Given the description of an element on the screen output the (x, y) to click on. 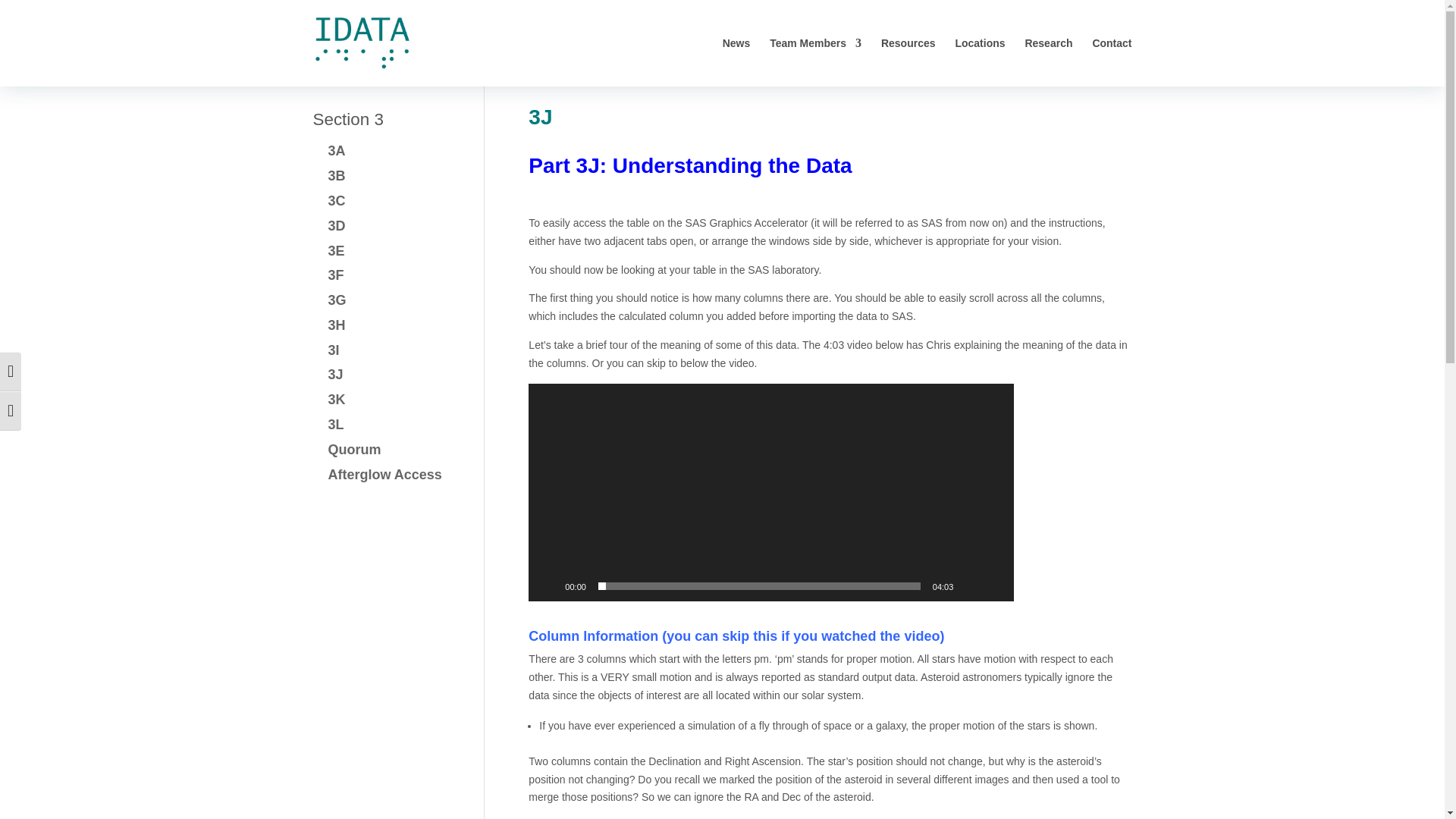
Research (1048, 61)
Fullscreen (994, 585)
Mute (969, 585)
Resources (908, 61)
Locations (979, 61)
Team Members (815, 61)
Play (548, 585)
